Given the description of an element on the screen output the (x, y) to click on. 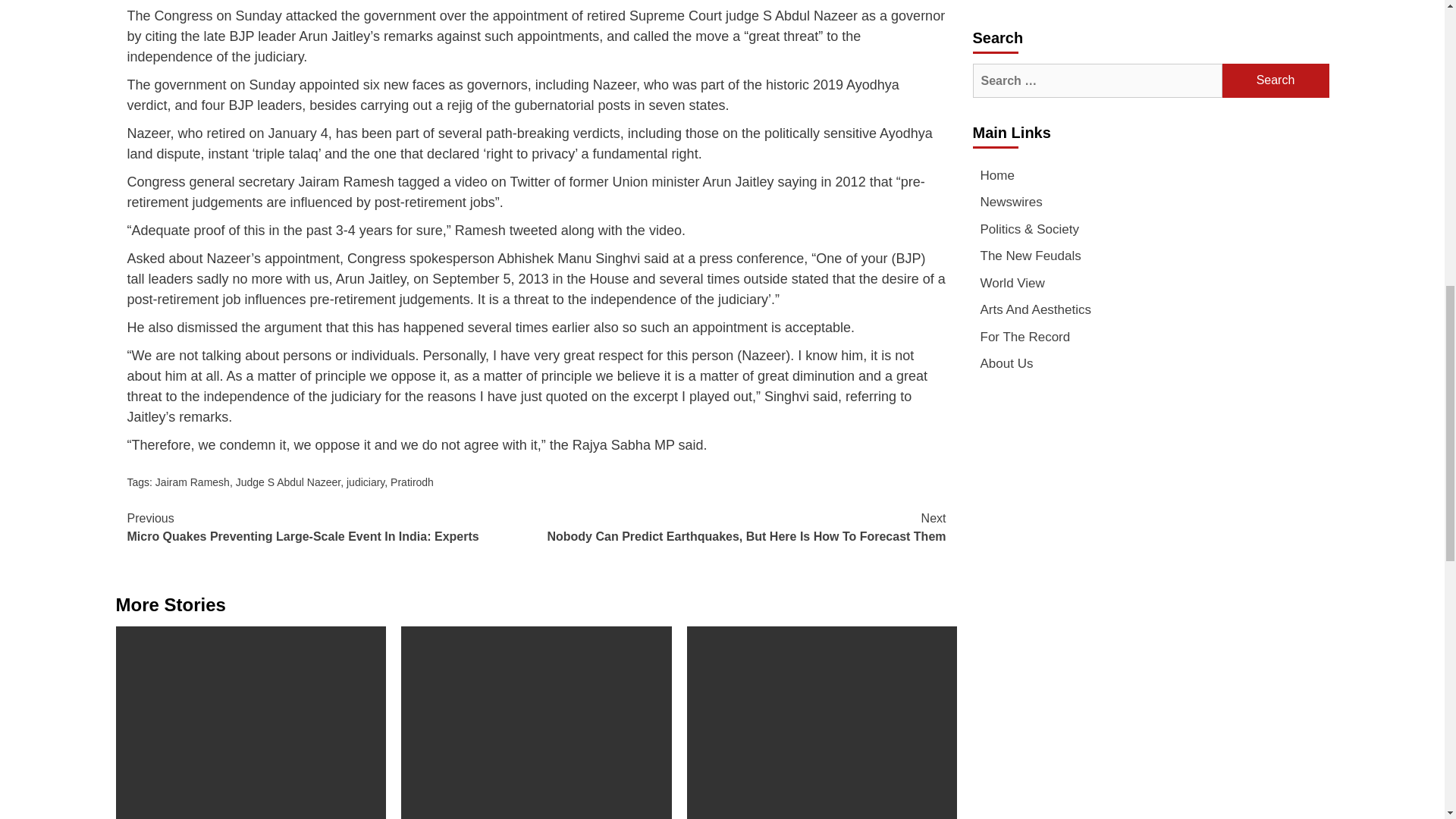
Pratirodh (411, 481)
Judge S Abdul Nazeer (287, 481)
judiciary (365, 481)
Jairam Ramesh (192, 481)
Search (1276, 80)
Search (1276, 80)
